Given the description of an element on the screen output the (x, y) to click on. 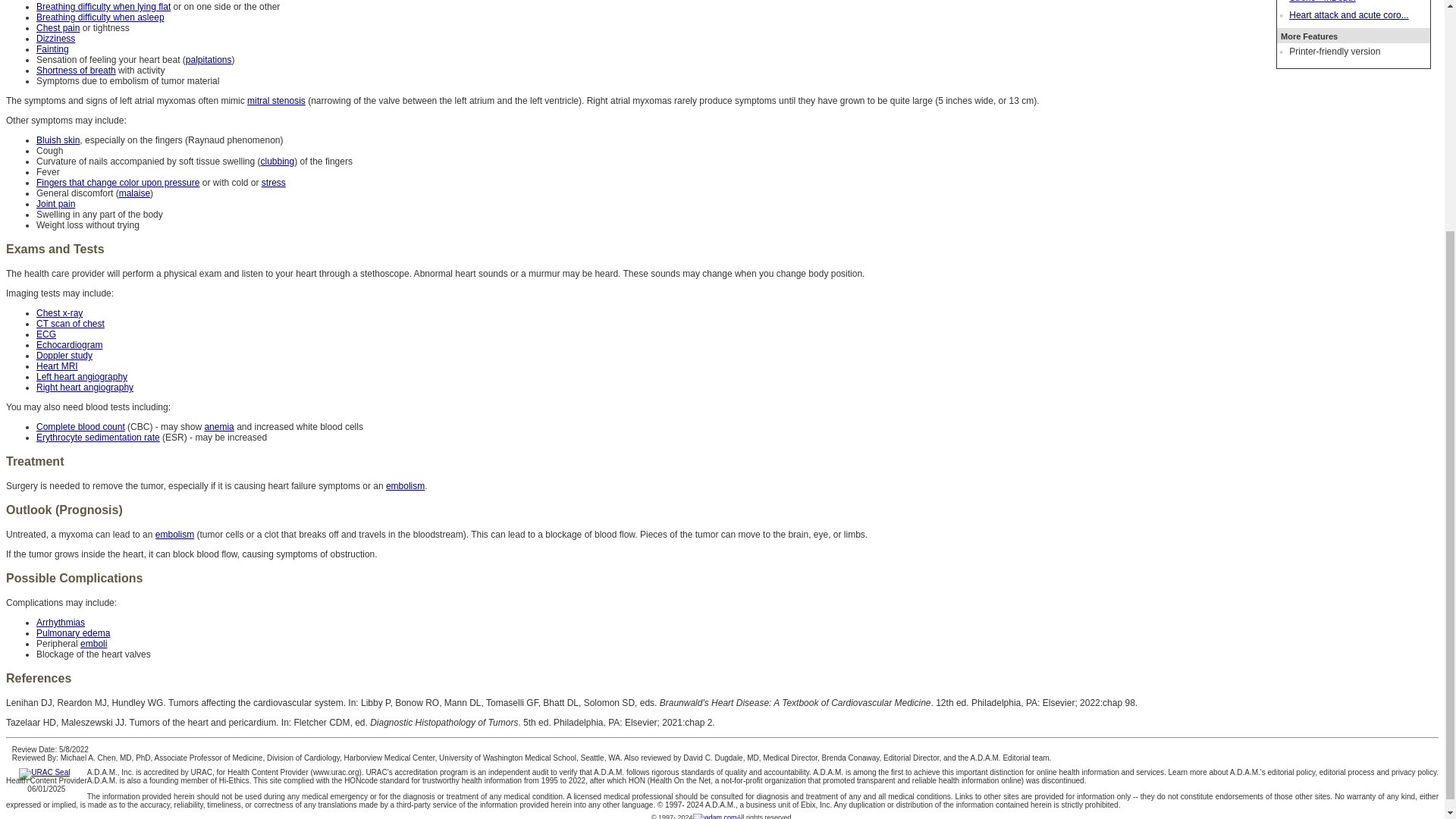
palpitations (208, 59)
embolism (405, 485)
Heart MRI (57, 366)
ECG (46, 334)
Heart attack and acute coro... (1347, 14)
Complete blood count (80, 426)
Fainting (52, 49)
Bluish skin (58, 140)
stress (273, 182)
anemia (217, 426)
